Given the description of an element on the screen output the (x, y) to click on. 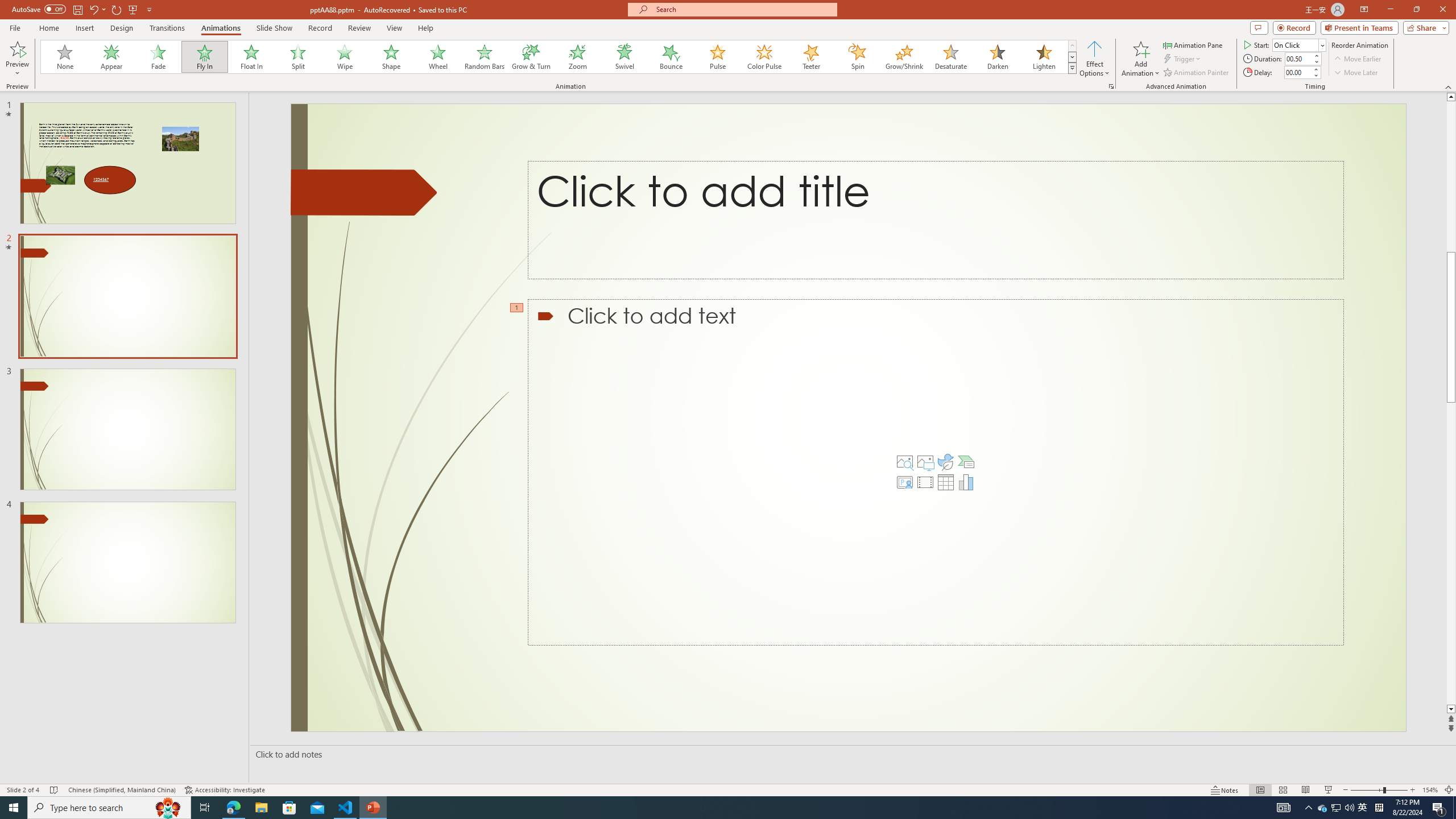
Animation Pane (1193, 44)
Teeter (810, 56)
Random Bars (484, 56)
Grow/Shrink (903, 56)
Animation Styles (1071, 67)
Insert a SmartArt Graphic (965, 461)
Trigger (1182, 58)
